Given the description of an element on the screen output the (x, y) to click on. 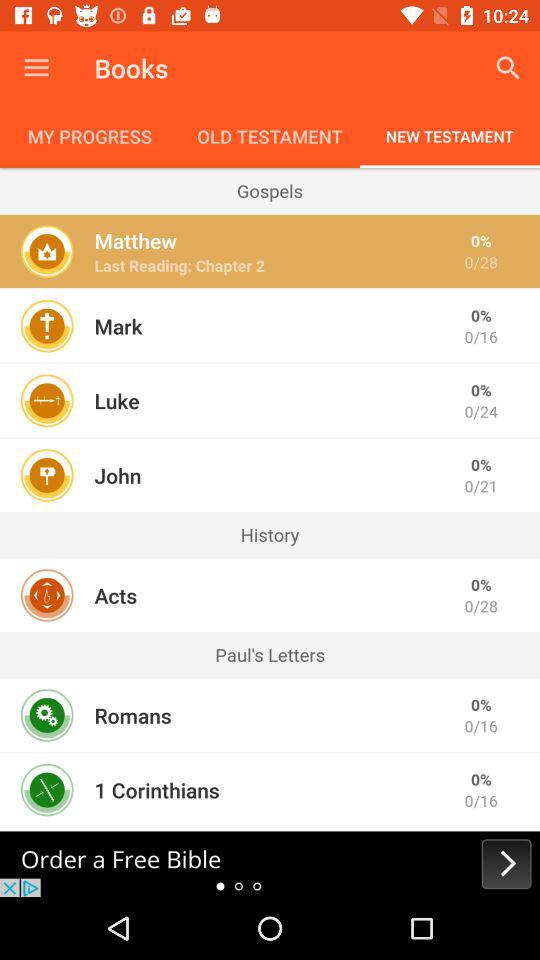
next (270, 864)
